Given the description of an element on the screen output the (x, y) to click on. 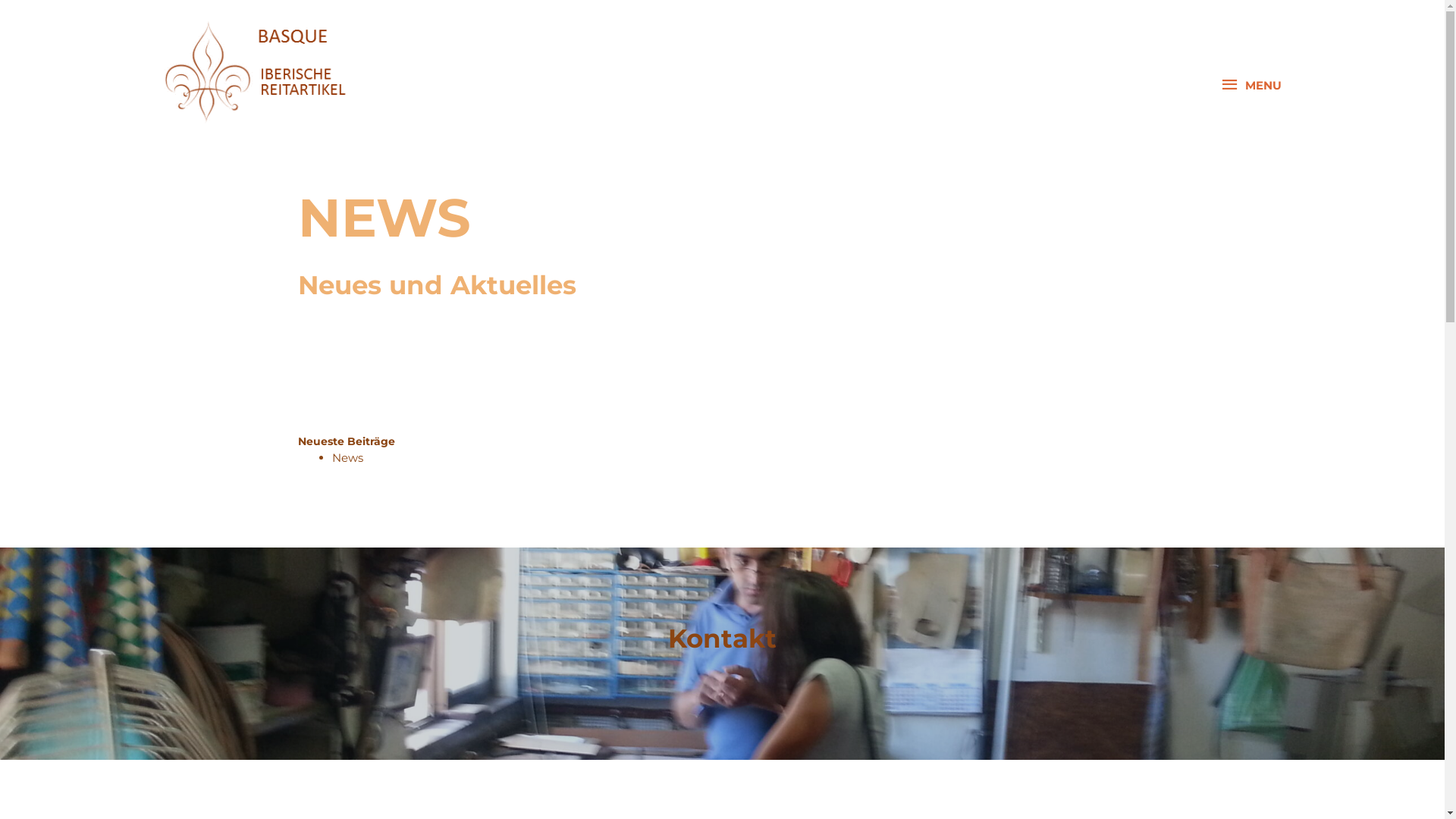
News Element type: text (347, 457)
MENU Element type: text (1250, 84)
